Given the description of an element on the screen output the (x, y) to click on. 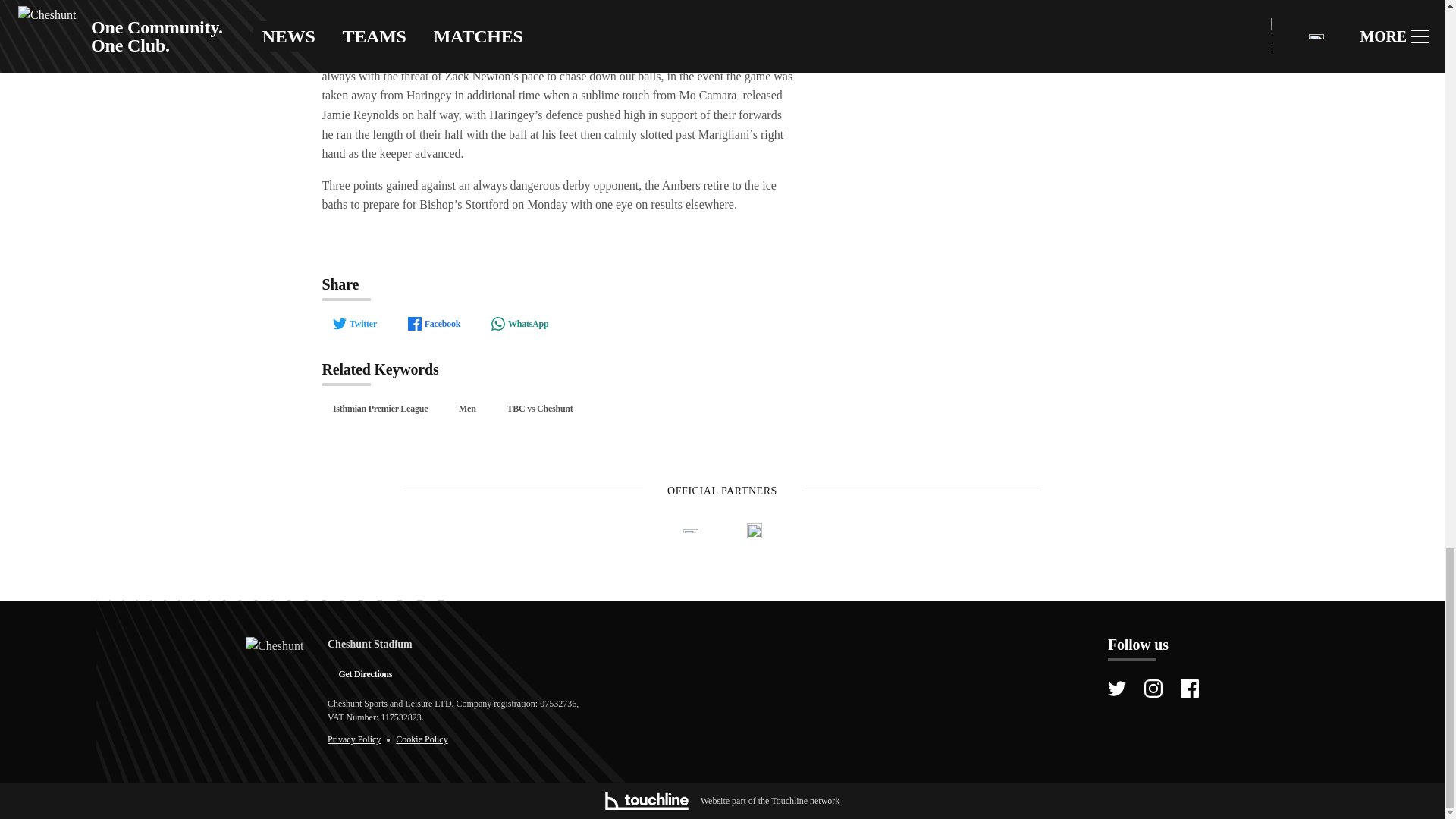
WhatsApp (519, 323)
Cookie Policy (421, 739)
Find us on Instagram (1152, 688)
Get Directions (365, 673)
Privacy Policy (353, 739)
Find us on Twitter (1116, 688)
Isthmian Premier League (379, 408)
Twitter (354, 323)
Facebook (433, 323)
Find us on Facebook (1189, 688)
Men (467, 408)
TBC vs Cheshunt (539, 408)
